Given the description of an element on the screen output the (x, y) to click on. 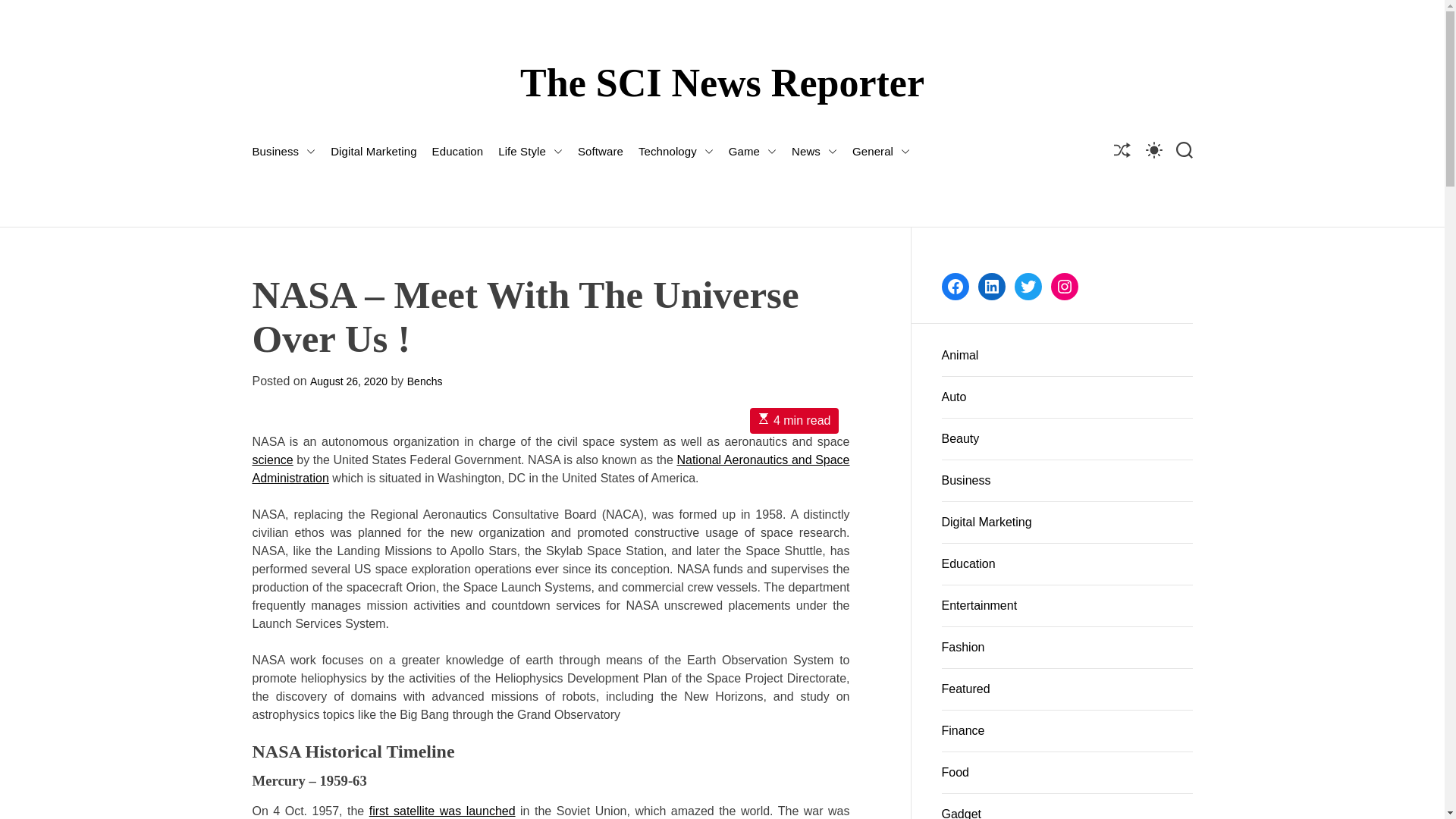
The SCI News Reporter (721, 83)
Business (283, 152)
Game (752, 152)
Technology (676, 152)
Digital Marketing (373, 151)
General (880, 152)
SWITCH COLOR MODE (1152, 149)
News (814, 152)
Software (600, 151)
Life Style (529, 152)
